Given the description of an element on the screen output the (x, y) to click on. 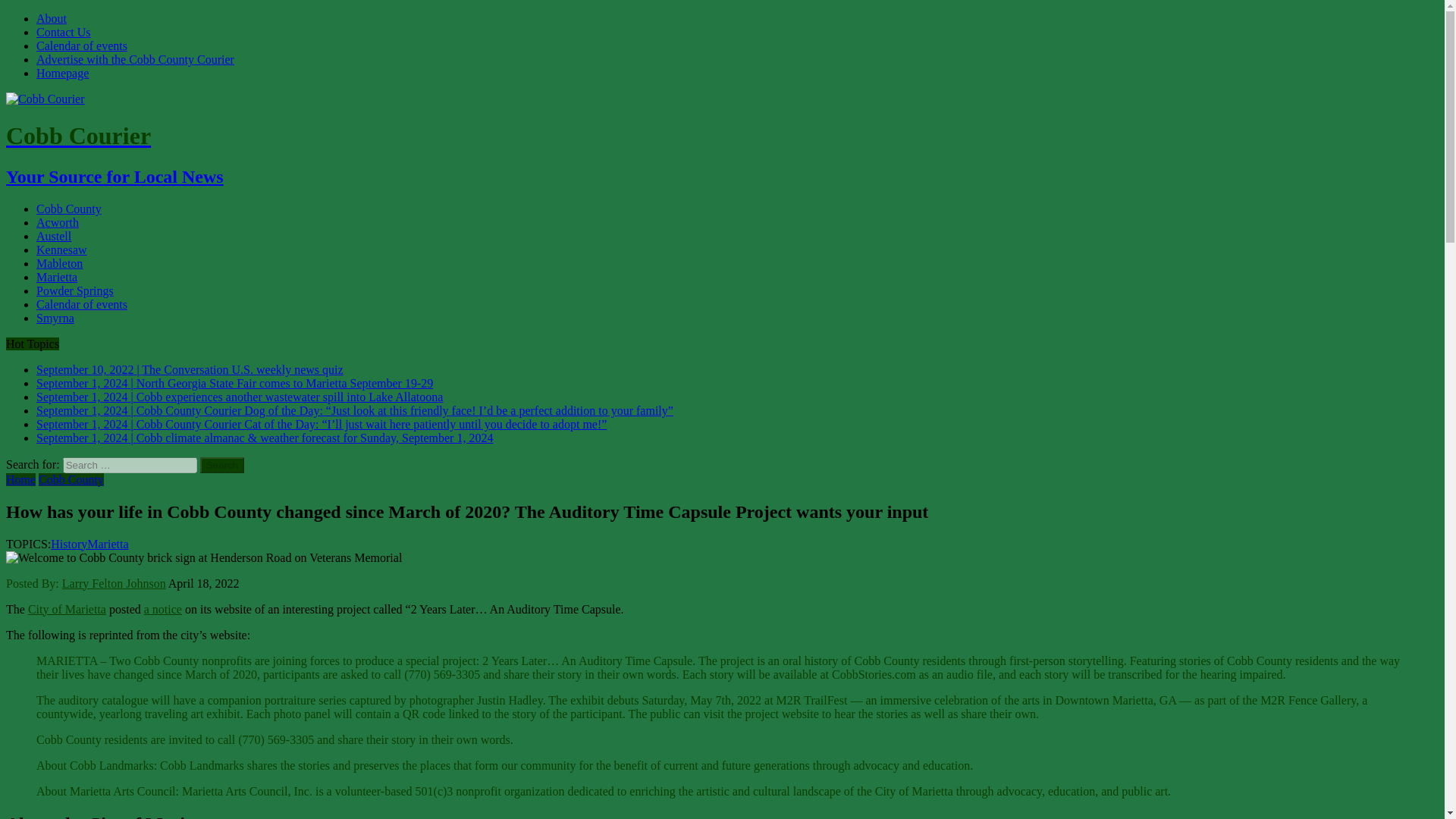
a notice (163, 608)
Powder Springs (74, 290)
Home (19, 479)
Search (222, 465)
City of Marietta (66, 608)
Calendar of events (82, 45)
Marietta (56, 277)
Larry Felton Johnson (113, 583)
Calendar of events (82, 304)
